Given the description of an element on the screen output the (x, y) to click on. 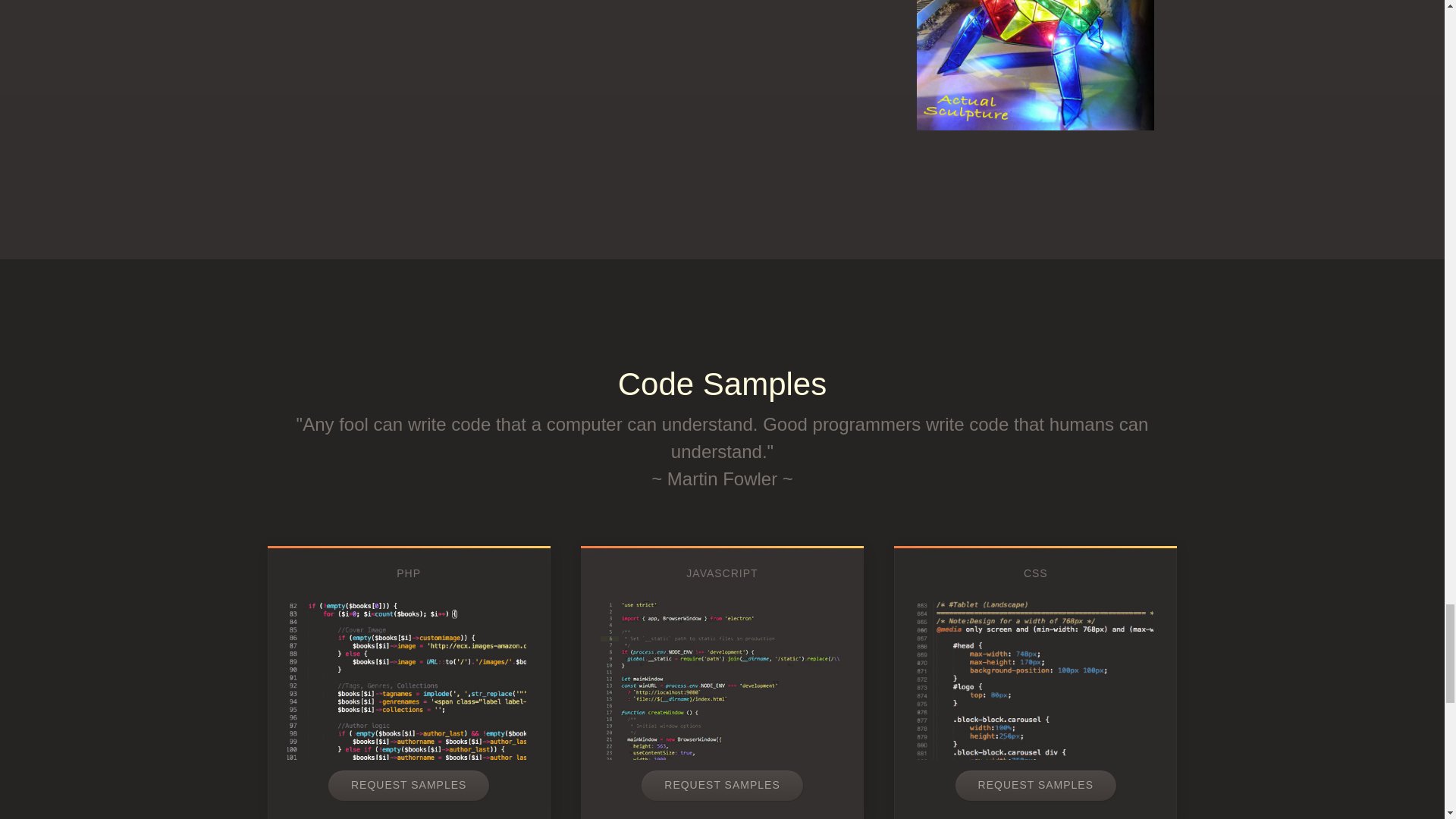
REQUEST SAMPLES (409, 785)
REQUEST SAMPLES (722, 785)
REQUEST SAMPLES (1035, 785)
